Given the description of an element on the screen output the (x, y) to click on. 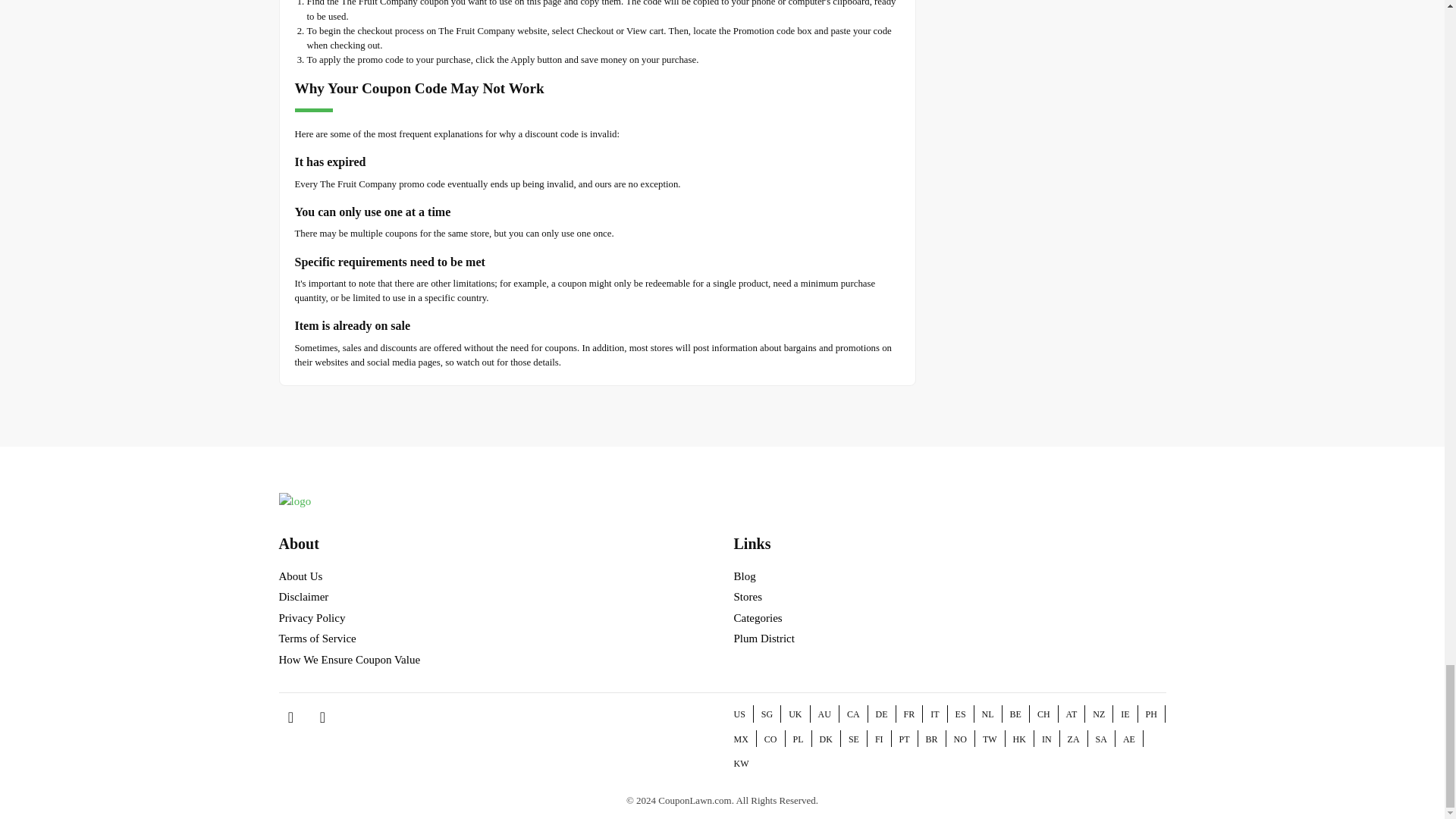
How We Ensure Coupon Value (349, 659)
Disclaimer (304, 596)
About Us (301, 576)
Privacy Policy (312, 617)
Terms of Service (317, 638)
